Given the description of an element on the screen output the (x, y) to click on. 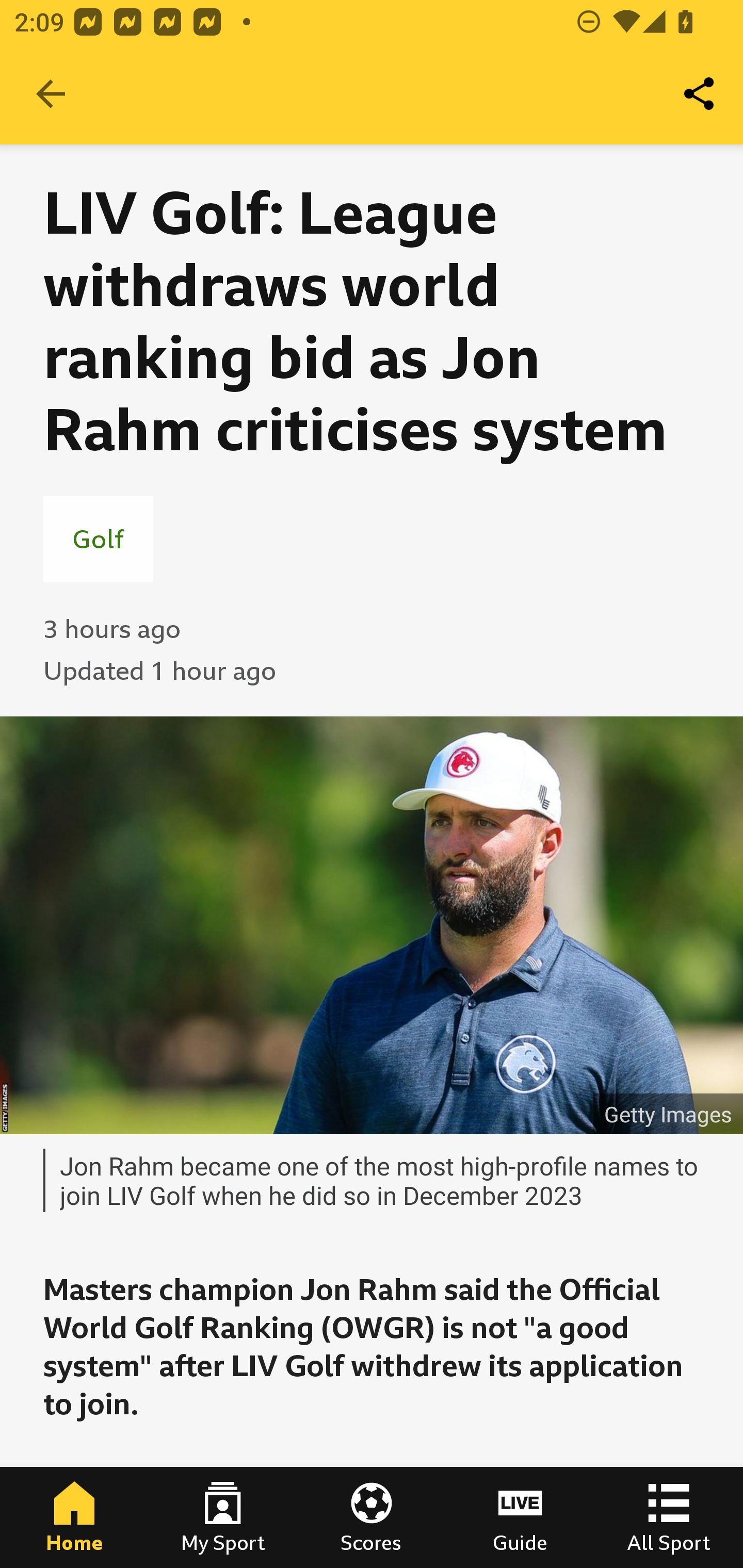
Navigate up (50, 93)
Share (699, 93)
Golf (98, 538)
My Sport (222, 1517)
Scores (371, 1517)
Guide (519, 1517)
All Sport (668, 1517)
